Given the description of an element on the screen output the (x, y) to click on. 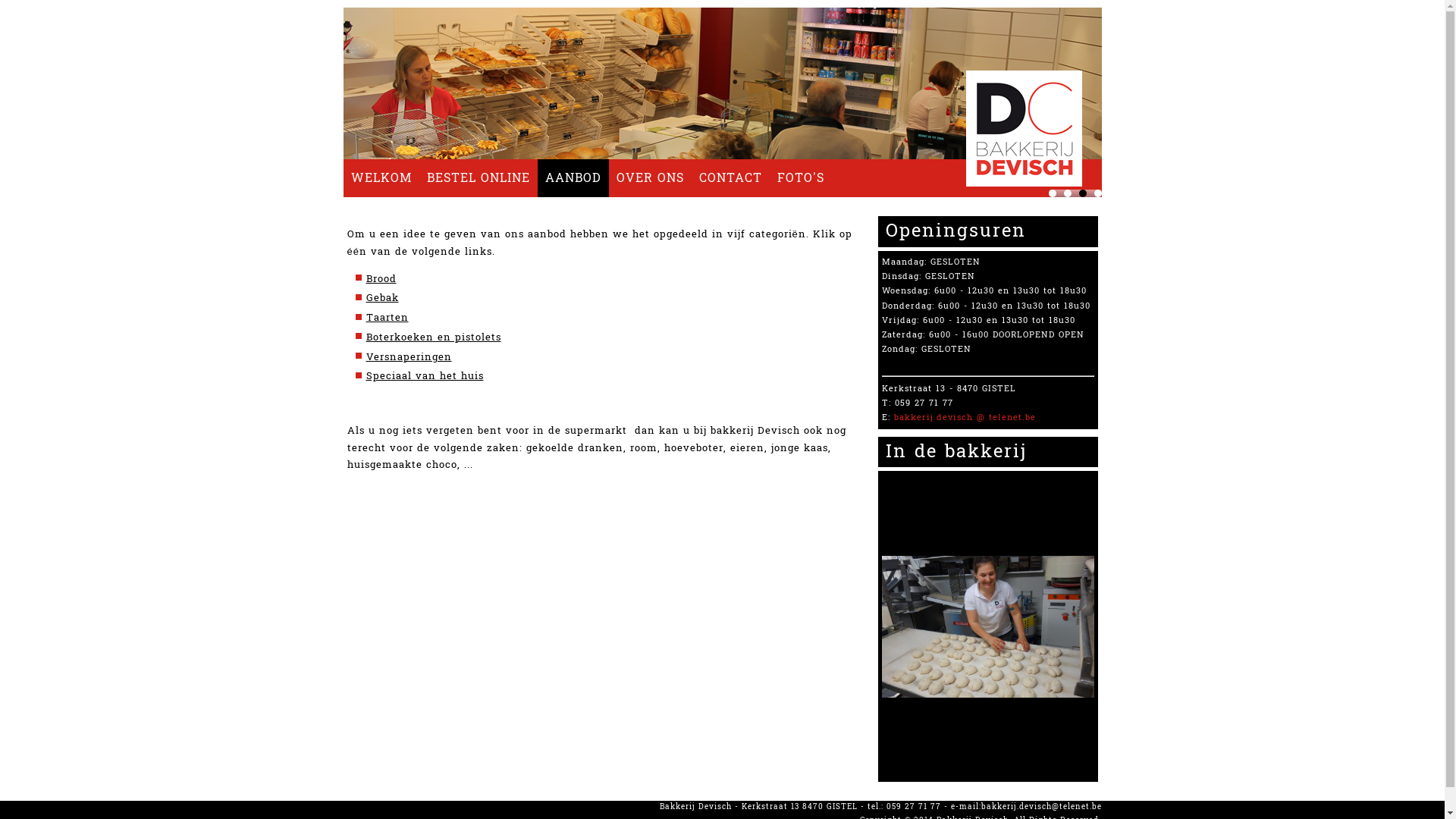
Versnaperingen Element type: text (408, 356)
WELKOM Element type: text (380, 178)
CONTACT Element type: text (730, 178)
Boterkoeken en pistolets Element type: text (432, 337)
bakkerij.devisch @ telenet.be Element type: text (964, 417)
BESTEL ONLINE Element type: text (477, 178)
Speciaal van het huis Element type: text (424, 376)
Brood Element type: text (380, 278)
AANBOD Element type: text (572, 178)
OVER ONS Element type: text (649, 178)
Taarten Element type: text (386, 317)
FOTO'S Element type: text (799, 178)
Gebak Element type: text (381, 297)
